Given the description of an element on the screen output the (x, y) to click on. 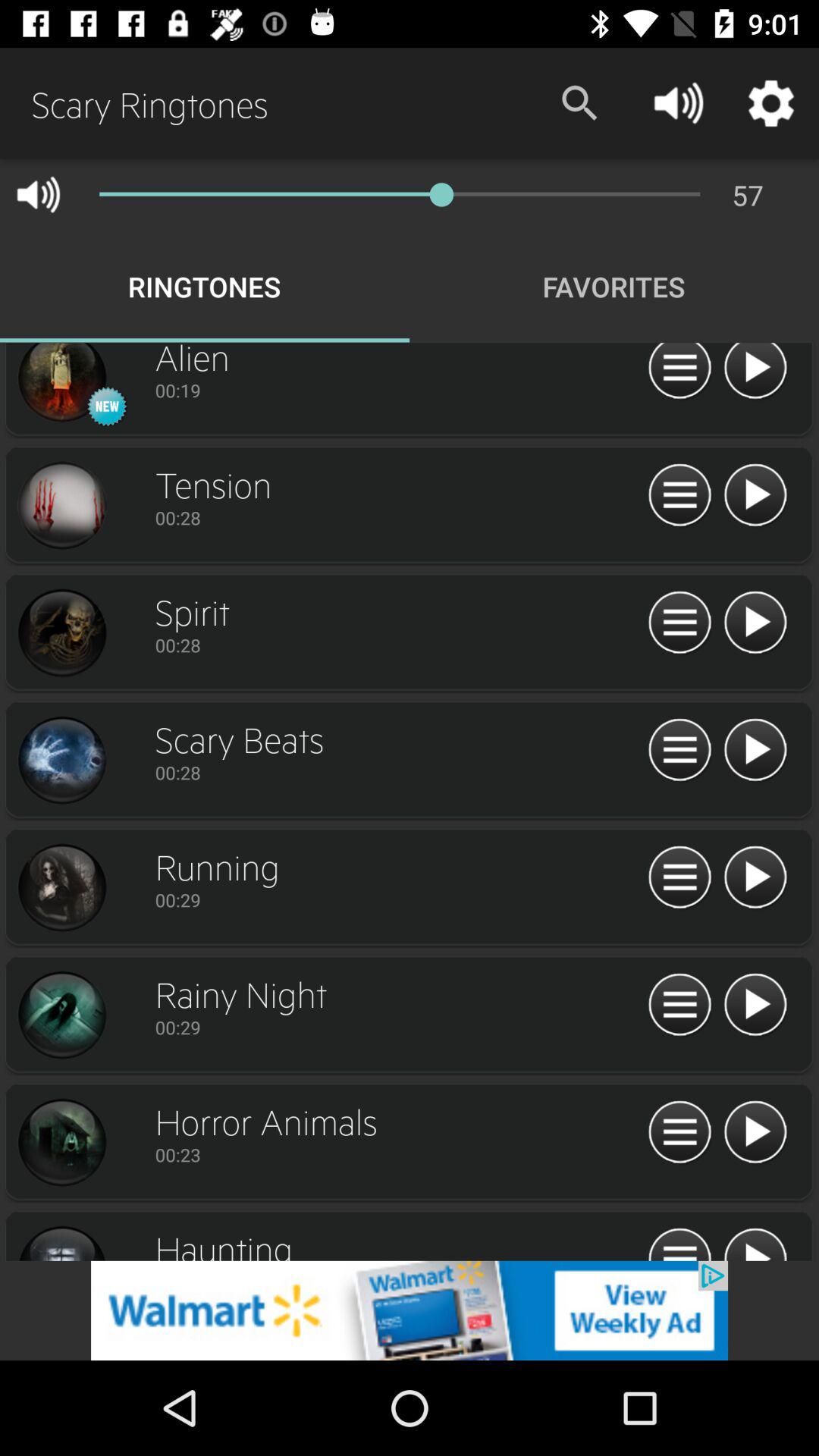
share the article (409, 1310)
